Given the description of an element on the screen output the (x, y) to click on. 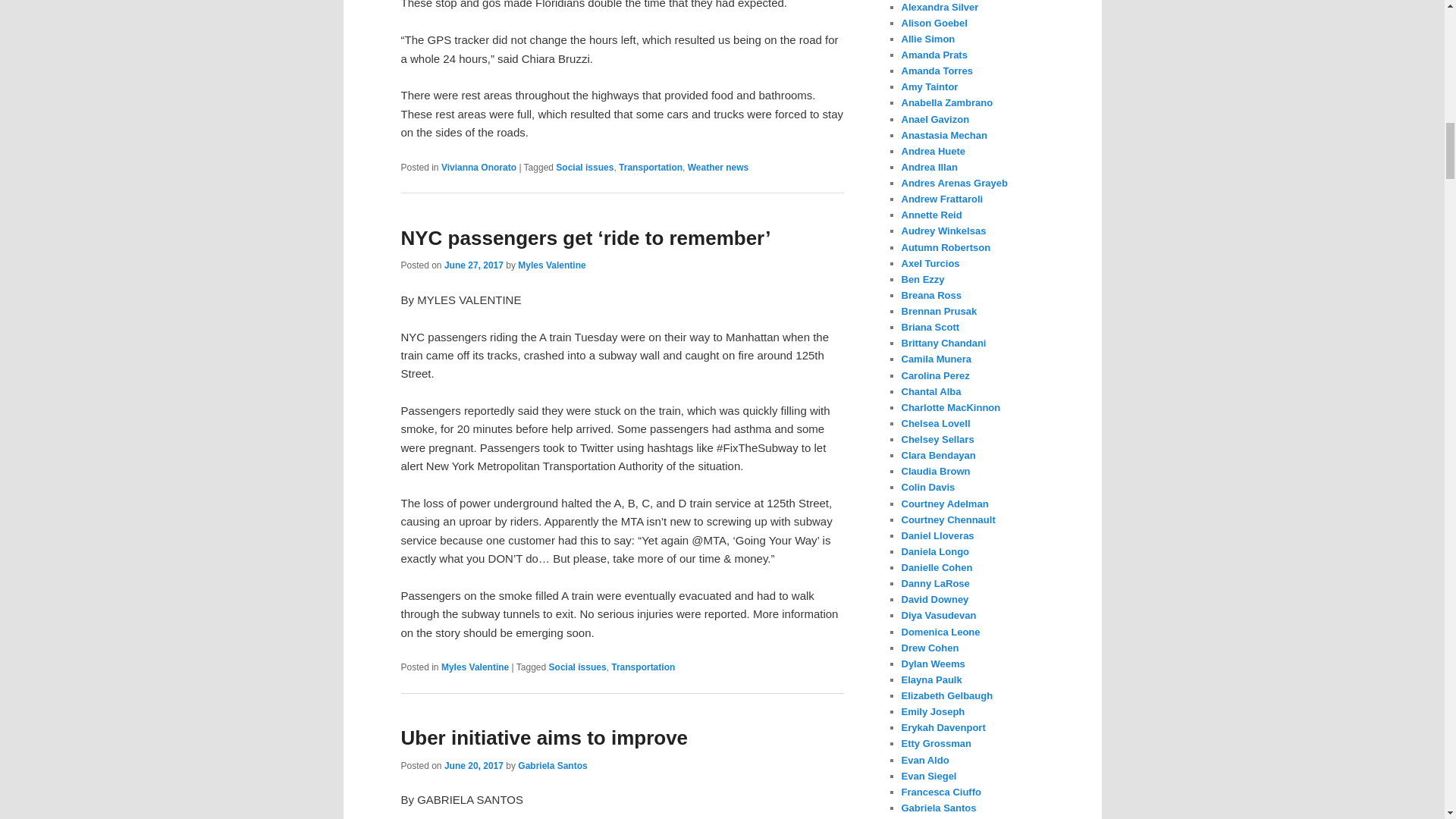
3:12 pm (473, 765)
View all posts by Myles Valentine (551, 265)
View all posts by Gabriela Santos (552, 765)
12:00 pm (473, 265)
